Given the description of an element on the screen output the (x, y) to click on. 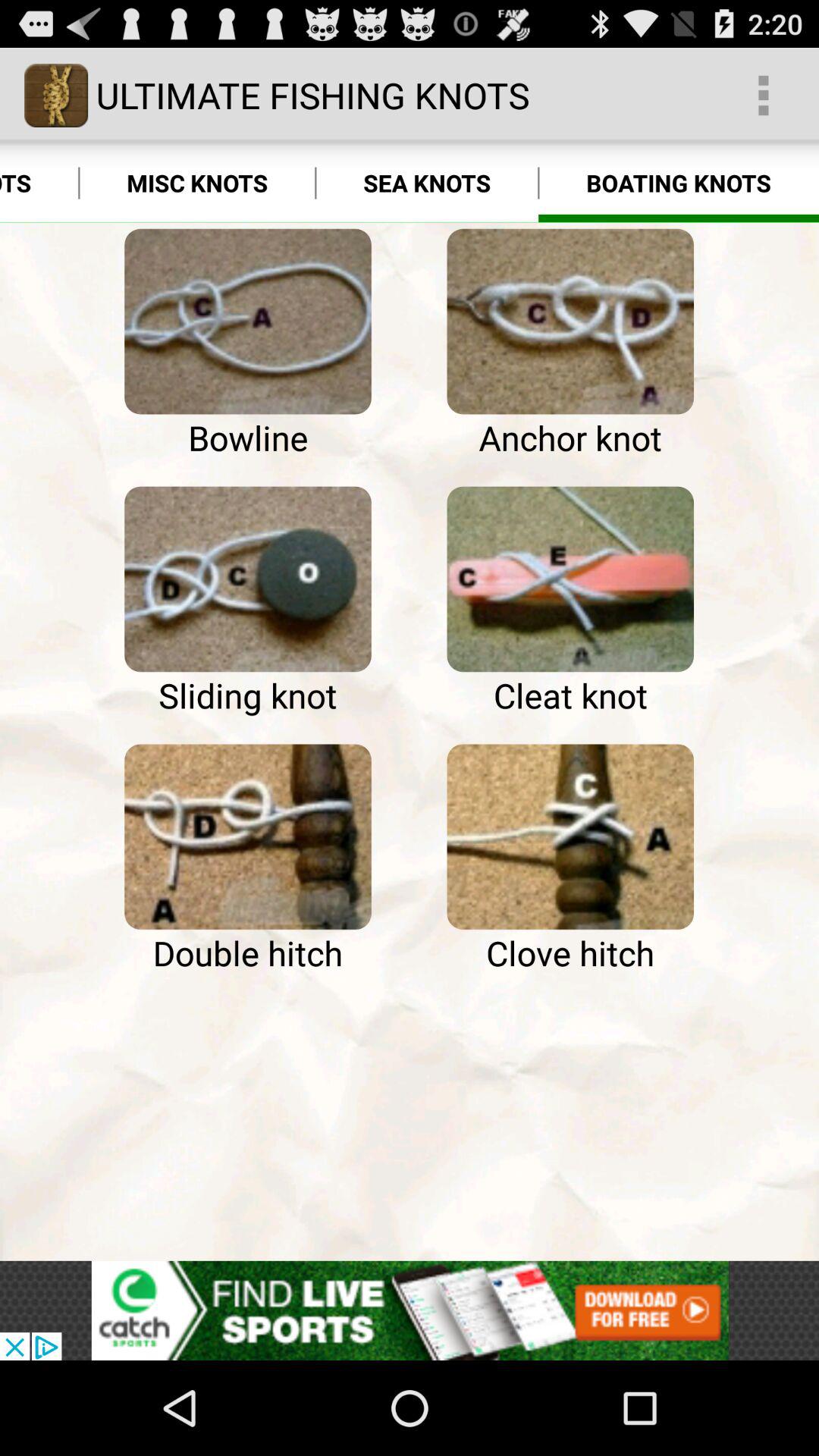
select anchor knot instructions (570, 321)
